Given the description of an element on the screen output the (x, y) to click on. 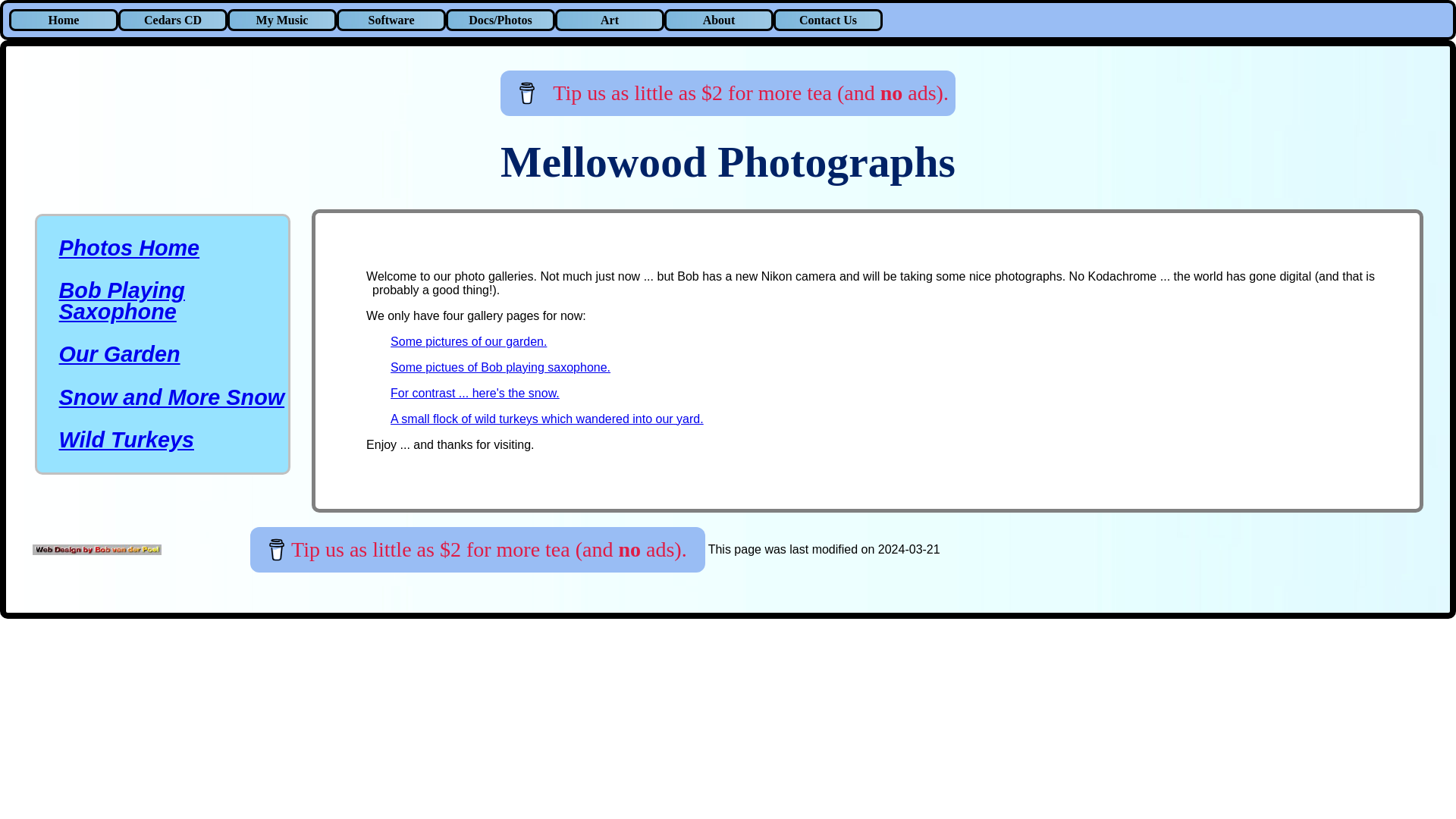
Cedars CD (172, 20)
Bob Playing Saxophone (121, 300)
About (718, 20)
Art (608, 20)
Software (390, 20)
Snow and More Snow (172, 396)
Our Garden (119, 354)
My Music (281, 20)
Photos Home (129, 247)
Contact Us (827, 20)
Home (62, 20)
